Given the description of an element on the screen output the (x, y) to click on. 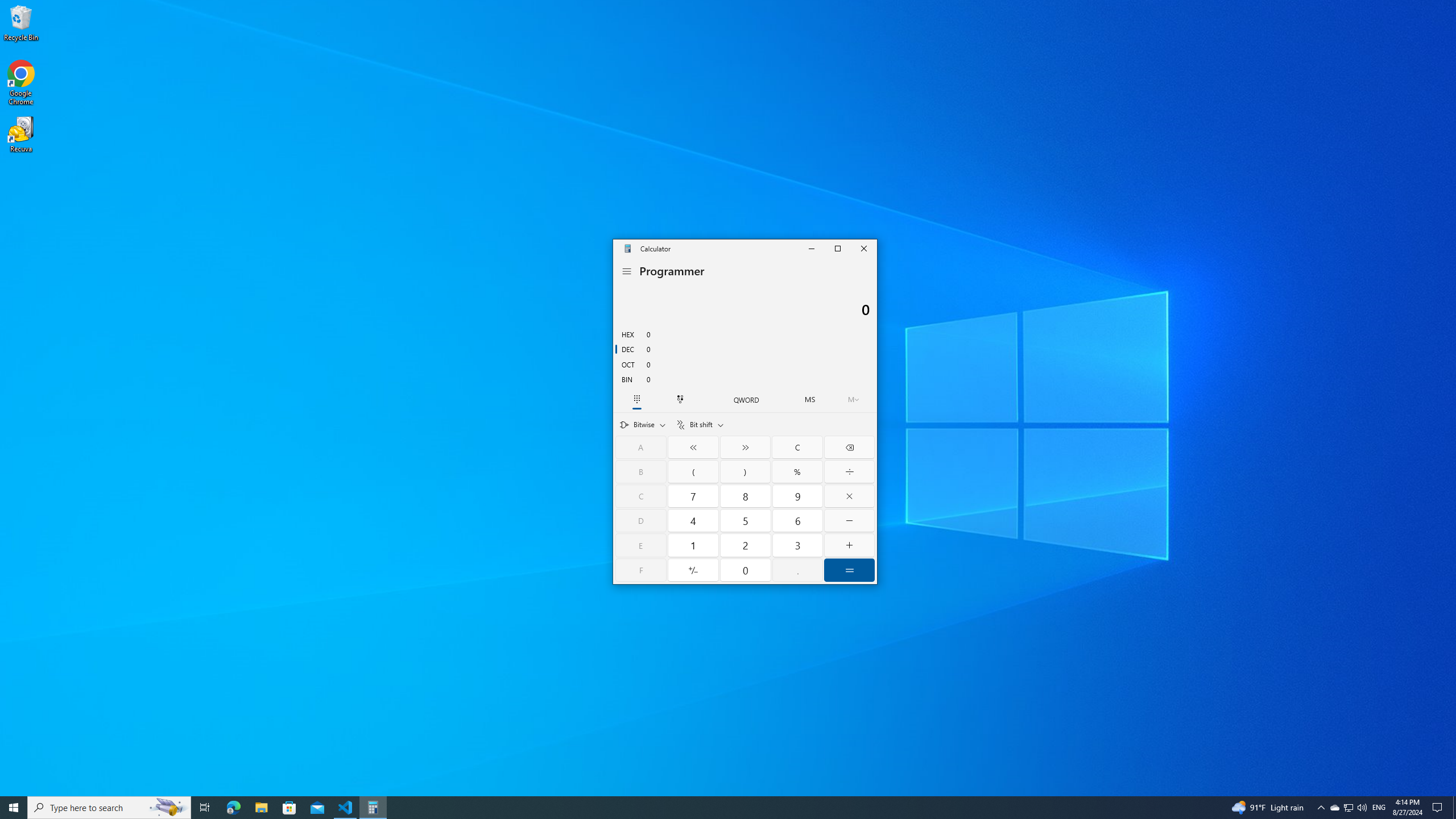
Minus (849, 520)
Eight (745, 495)
Close Calculator (863, 248)
Four (693, 520)
Left parenthesis (693, 471)
One (693, 545)
Running applications (706, 807)
Multiply by (849, 495)
Backspace (849, 446)
E (640, 545)
